Given the description of an element on the screen output the (x, y) to click on. 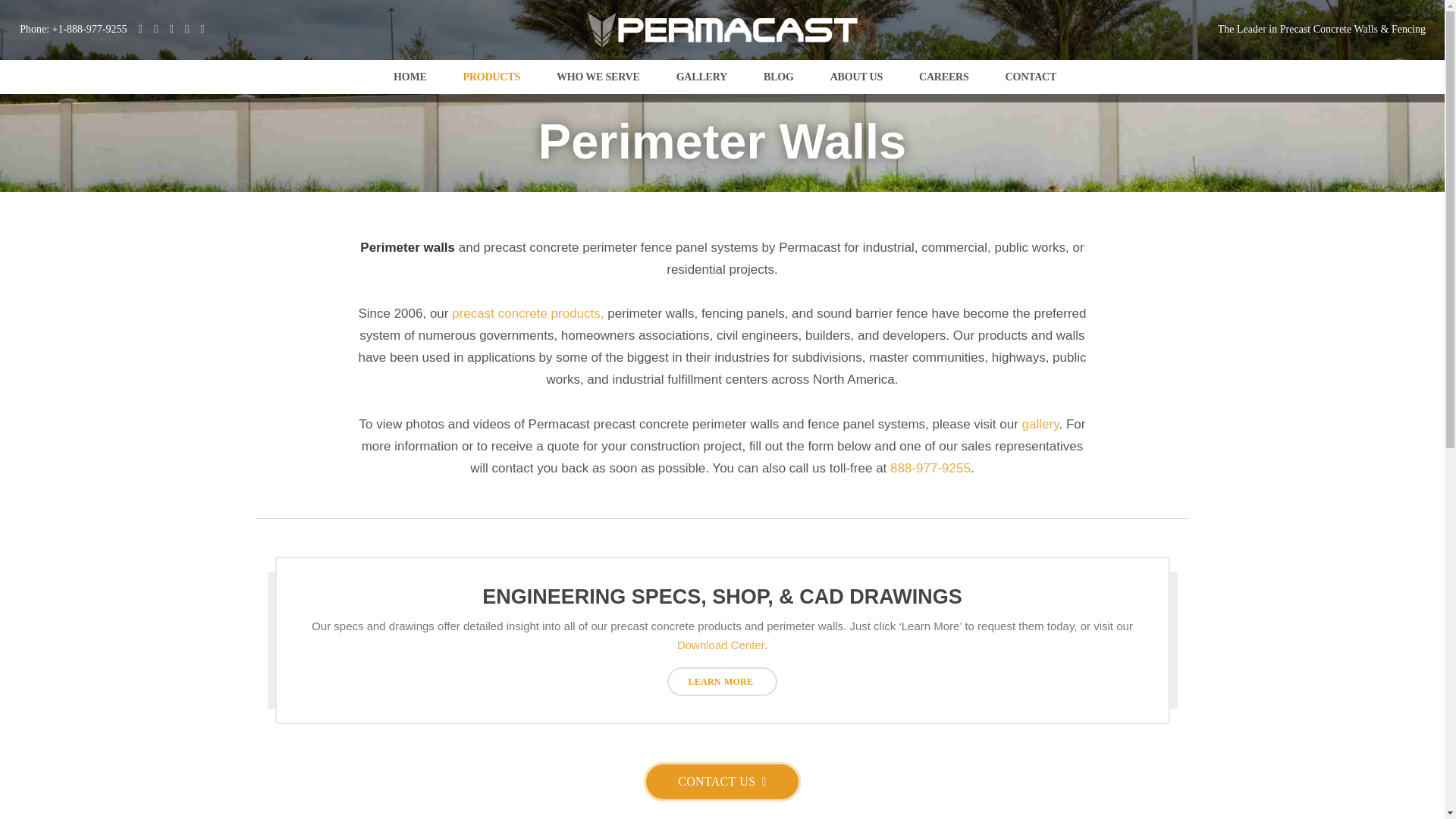
CAREERS (941, 76)
ABOUT US (853, 76)
PRODUCTS (488, 76)
BLOG (775, 76)
WHO WE SERVE (595, 76)
GALLERY (699, 76)
U (989, 413)
HOME (407, 76)
CONTACT (1029, 76)
Permacast Walls (407, 76)
